Given the description of an element on the screen output the (x, y) to click on. 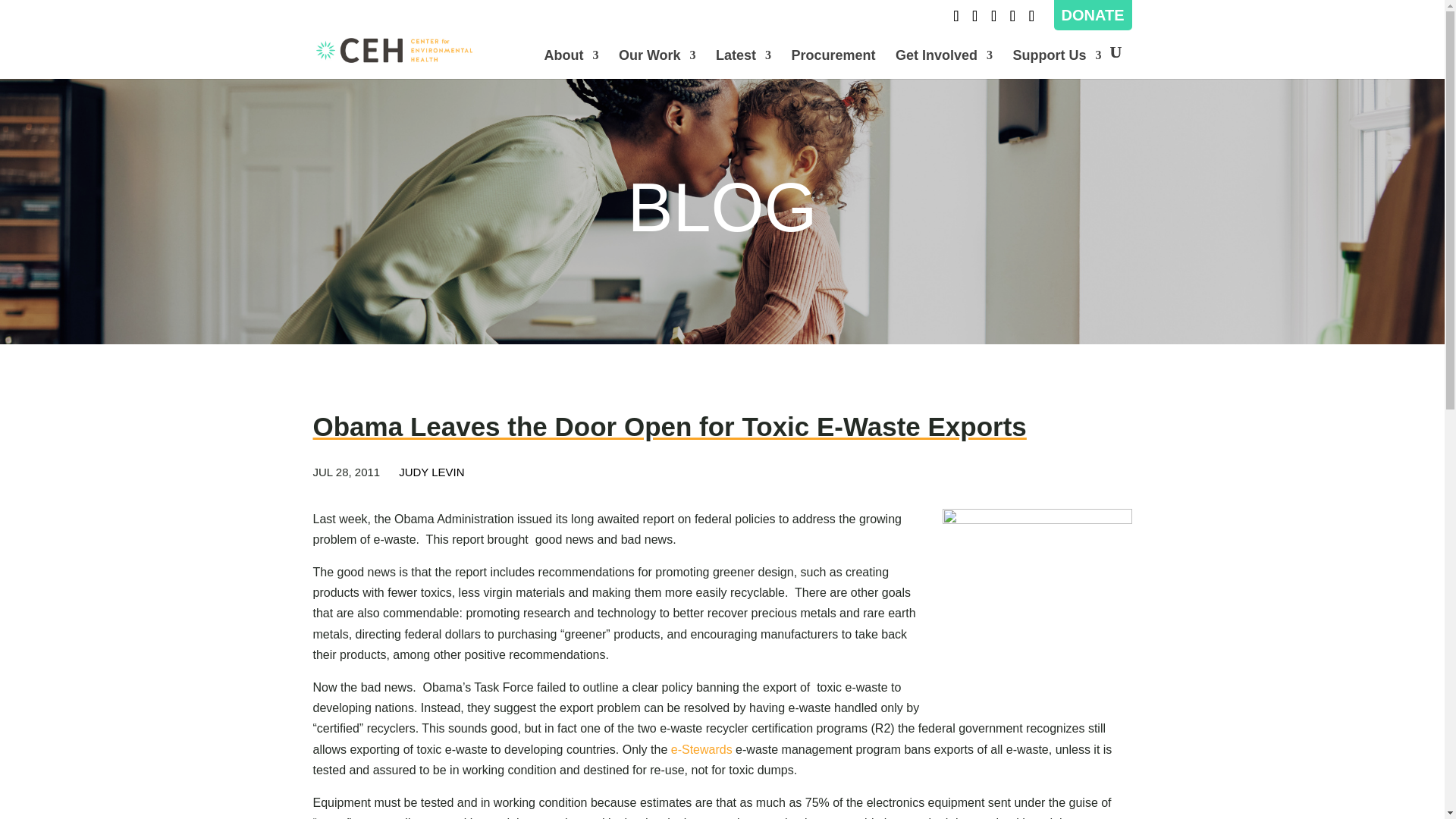
DONATE (1092, 15)
Posts by Judy Levin (431, 472)
Procurement (834, 63)
Opens in a new window (955, 19)
Opens in a new window (993, 19)
Opens in a new window (1012, 19)
Support Us (1057, 63)
Opens in a new window (1031, 19)
About (570, 63)
Opens in a new window (974, 19)
e-waste (1036, 603)
Get Involved (943, 63)
Our Work (656, 63)
Opens in a new window (701, 748)
Latest (743, 63)
